Given the description of an element on the screen output the (x, y) to click on. 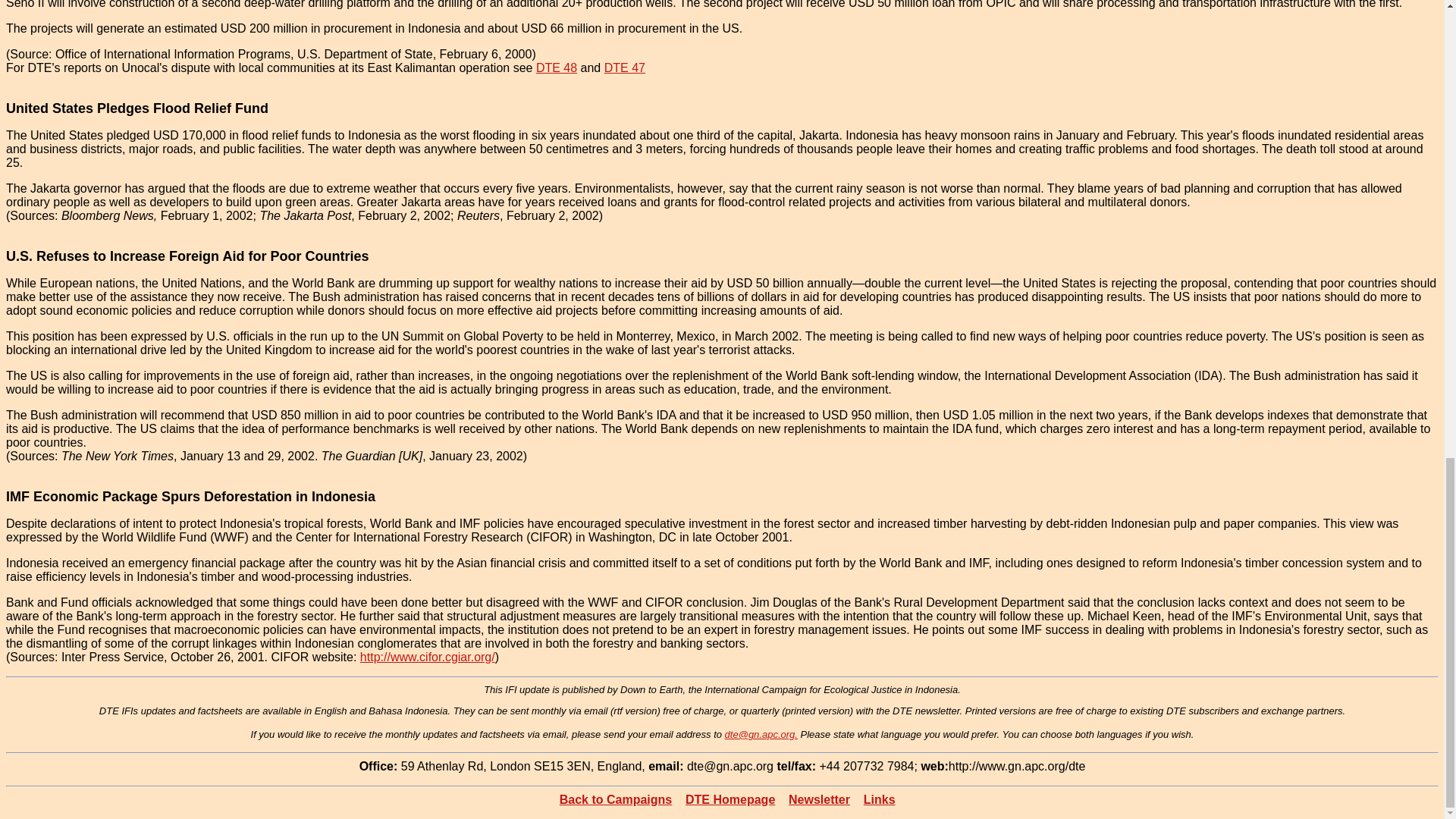
DTE Homepage (729, 799)
Newsletter (819, 799)
DTE 48 (555, 67)
DTE 47 (624, 67)
Links (879, 799)
Back to Campaigns (615, 799)
